Given the description of an element on the screen output the (x, y) to click on. 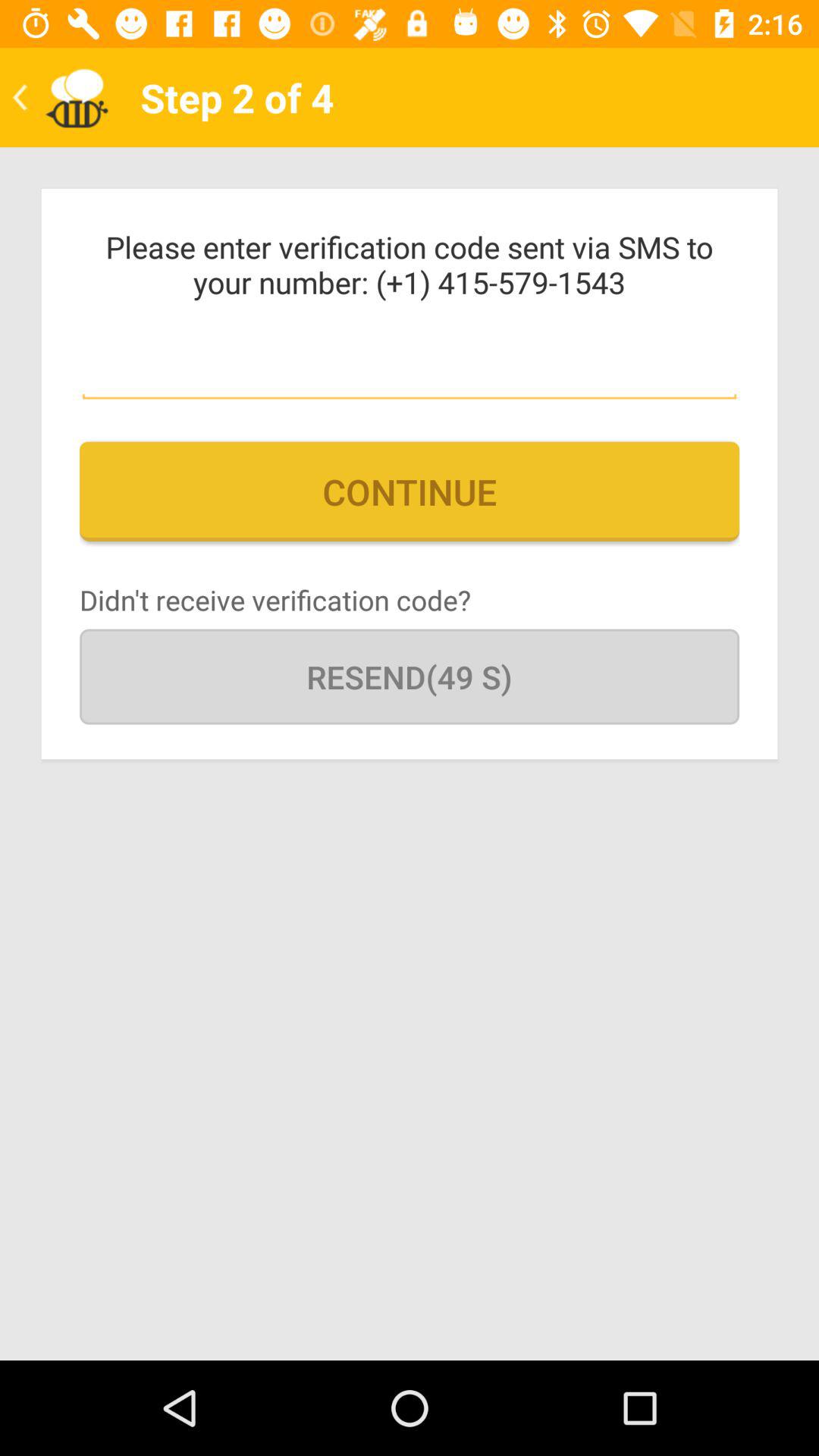
open the icon below the didn t receive (409, 676)
